Given the description of an element on the screen output the (x, y) to click on. 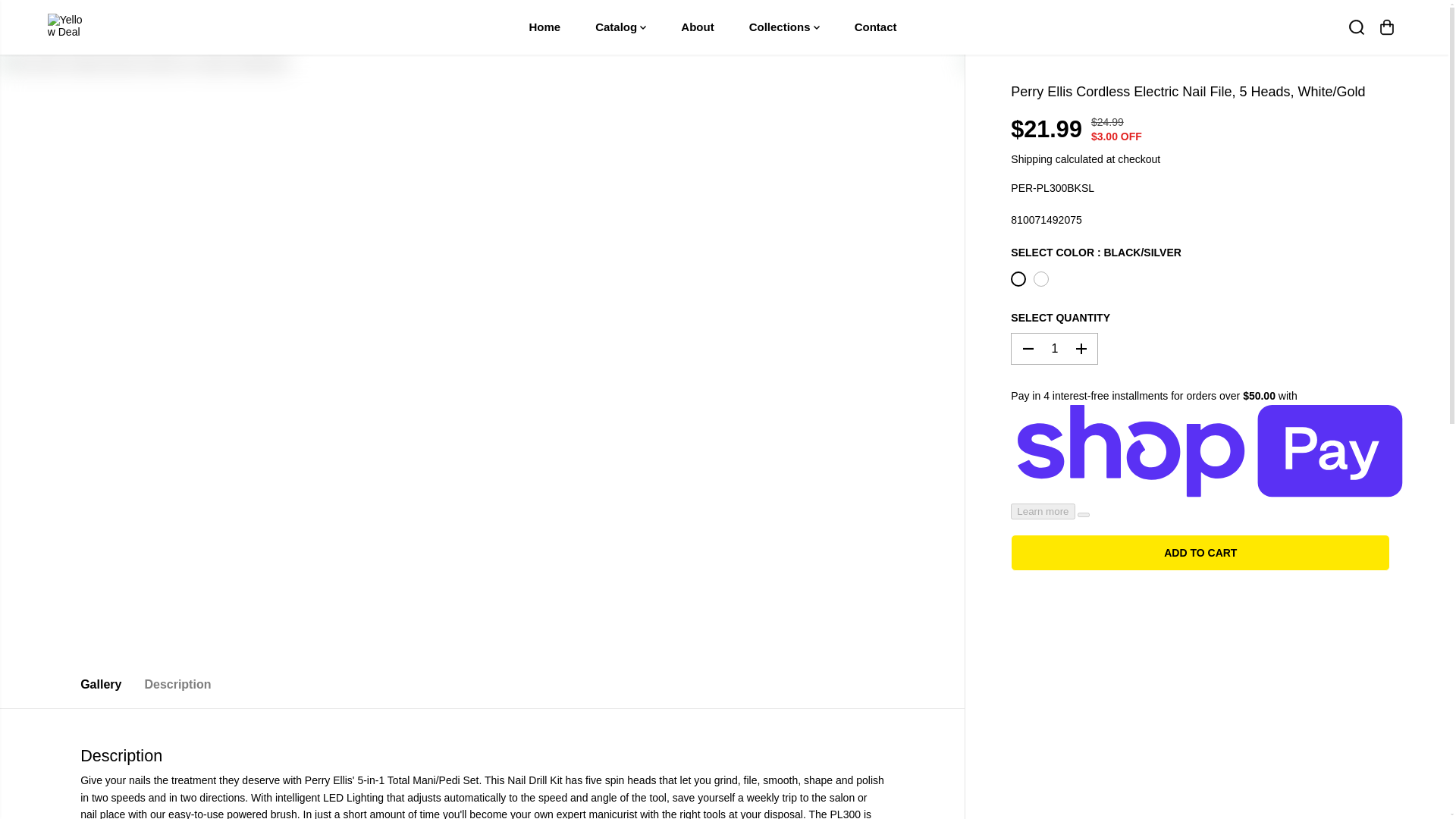
Cart (1386, 26)
Catalog (620, 27)
About (697, 27)
SKIP TO CONTENT (60, 18)
Collections (784, 27)
Home (544, 27)
Search (1356, 26)
1 (1053, 348)
